Given the description of an element on the screen output the (x, y) to click on. 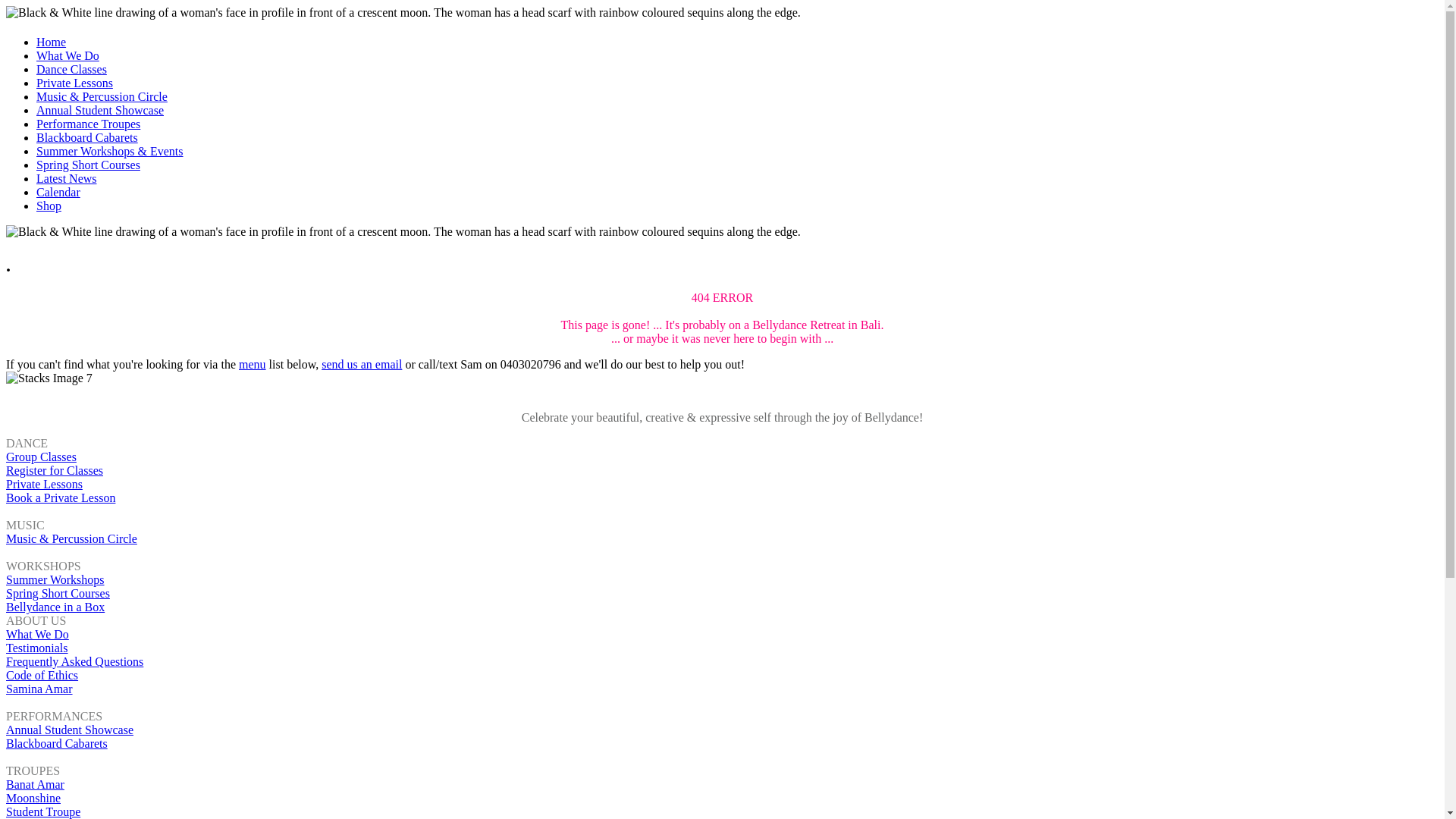
Student Troupe Element type: text (43, 811)
Annual Student Showcase Element type: text (69, 729)
Music & Percussion Circle Element type: text (71, 538)
Frequently Asked Questions Element type: text (74, 661)
Moonshine Element type: text (33, 797)
Latest News Element type: text (66, 178)
send us an email Element type: text (361, 363)
Book a Private Lesson Element type: text (60, 497)
Music & Percussion Circle Element type: text (101, 96)
Register for Classes Element type: text (54, 470)
Shop Element type: text (48, 205)
What We Do Element type: text (37, 633)
Blackboard Cabarets Element type: text (87, 137)
Summer Workshops Element type: text (55, 579)
Bellydance in a Box Element type: text (55, 606)
Annual Student Showcase Element type: text (99, 109)
Spring Short Courses Element type: text (88, 164)
Dance Classes Element type: text (71, 68)
Group Classes Element type: text (41, 456)
Blackboard Cabarets Element type: text (56, 743)
Private Lessons Element type: text (44, 483)
menu Element type: text (252, 363)
Spring Short Courses Element type: text (57, 592)
  Element type: text (7, 391)
Private Lessons Element type: text (74, 82)
Performance Troupes Element type: text (88, 123)
Testimonials Element type: text (37, 647)
What We Do Element type: text (67, 55)
Code of Ethics Element type: text (42, 674)
Banat Amar Element type: text (35, 784)
Summer Workshops & Events Element type: text (109, 150)
Calendar Element type: text (58, 191)
Home Element type: text (50, 41)
Samina Amar Element type: text (39, 688)
